Given the description of an element on the screen output the (x, y) to click on. 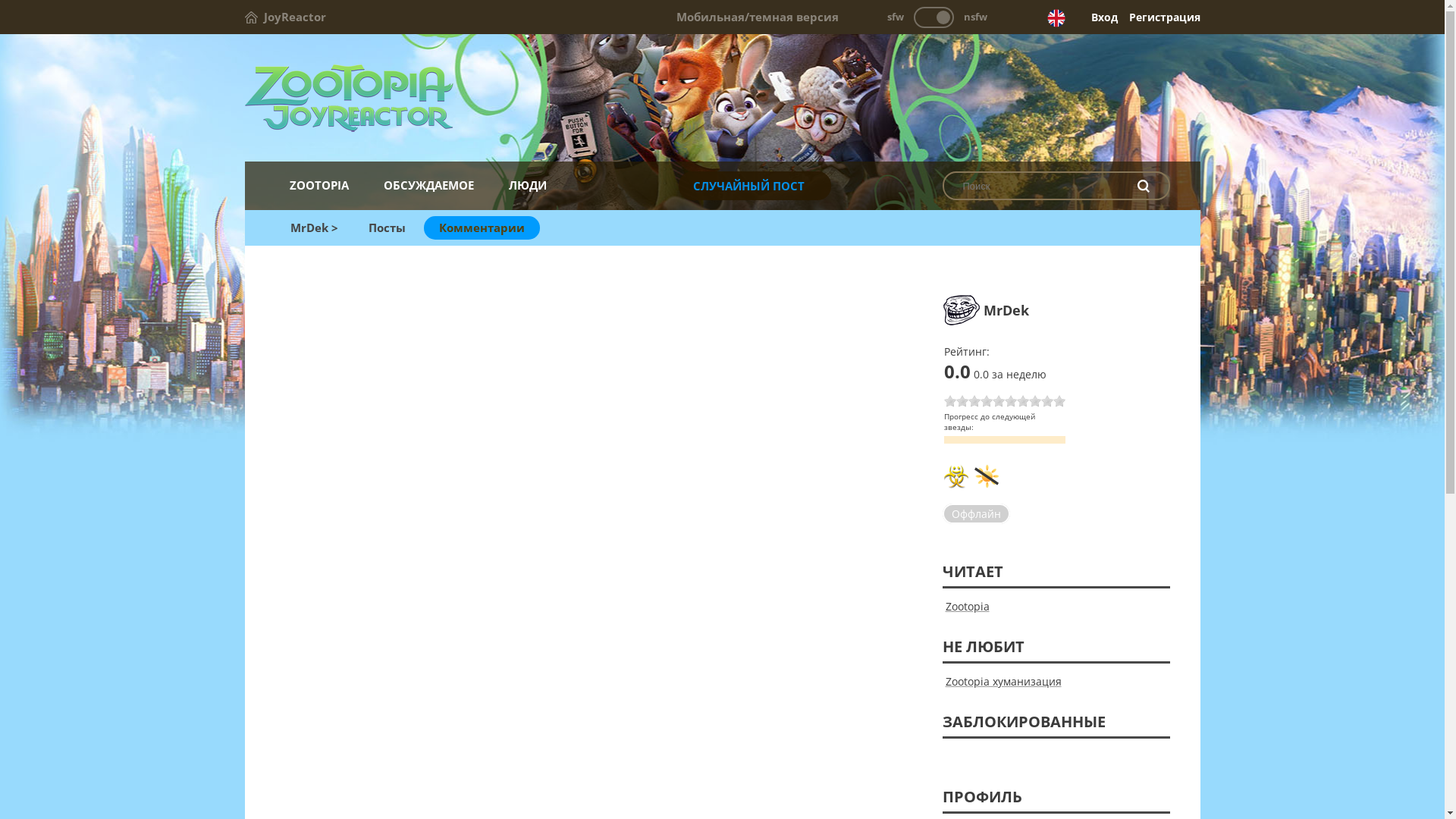
Zootopia Element type: text (966, 606)
JoyReactor Element type: text (284, 17)
Zootopia Element type: text (721, 98)
English version Element type: hover (1055, 18)
ZOOTOPIA Element type: text (318, 184)
